Given the description of an element on the screen output the (x, y) to click on. 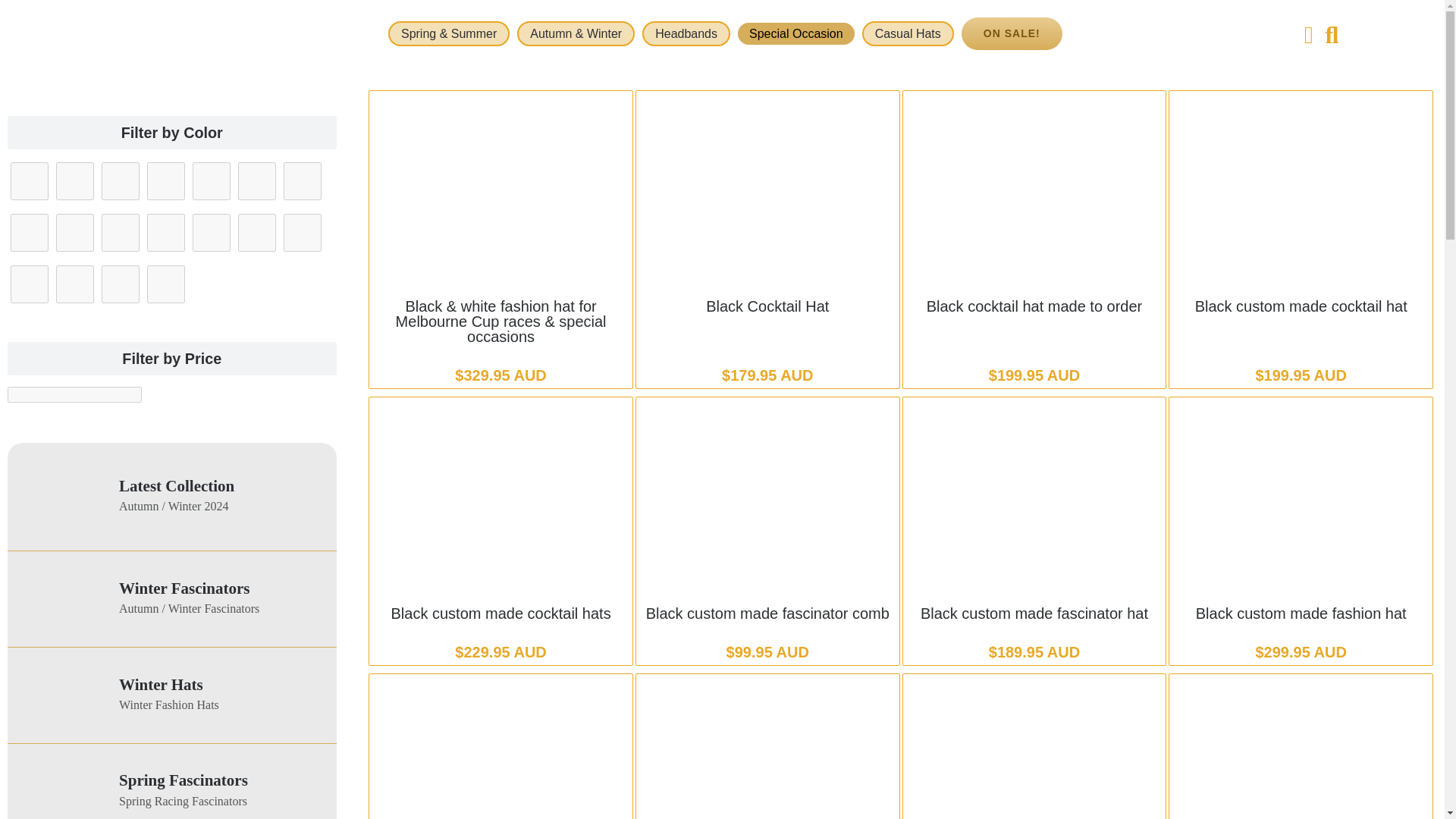
143 (120, 232)
162 (257, 232)
160 (302, 180)
166 (75, 284)
ON SALE! (1011, 33)
169 (165, 284)
Casual Hats (907, 33)
167 (120, 284)
165 (29, 284)
Winter Hats (161, 684)
141 (120, 180)
156 (165, 232)
144 (257, 180)
S288-fuchsia1 (61, 791)
exploding-fireworks-logo-vector-icon-small (61, 496)
